Given the description of an element on the screen output the (x, y) to click on. 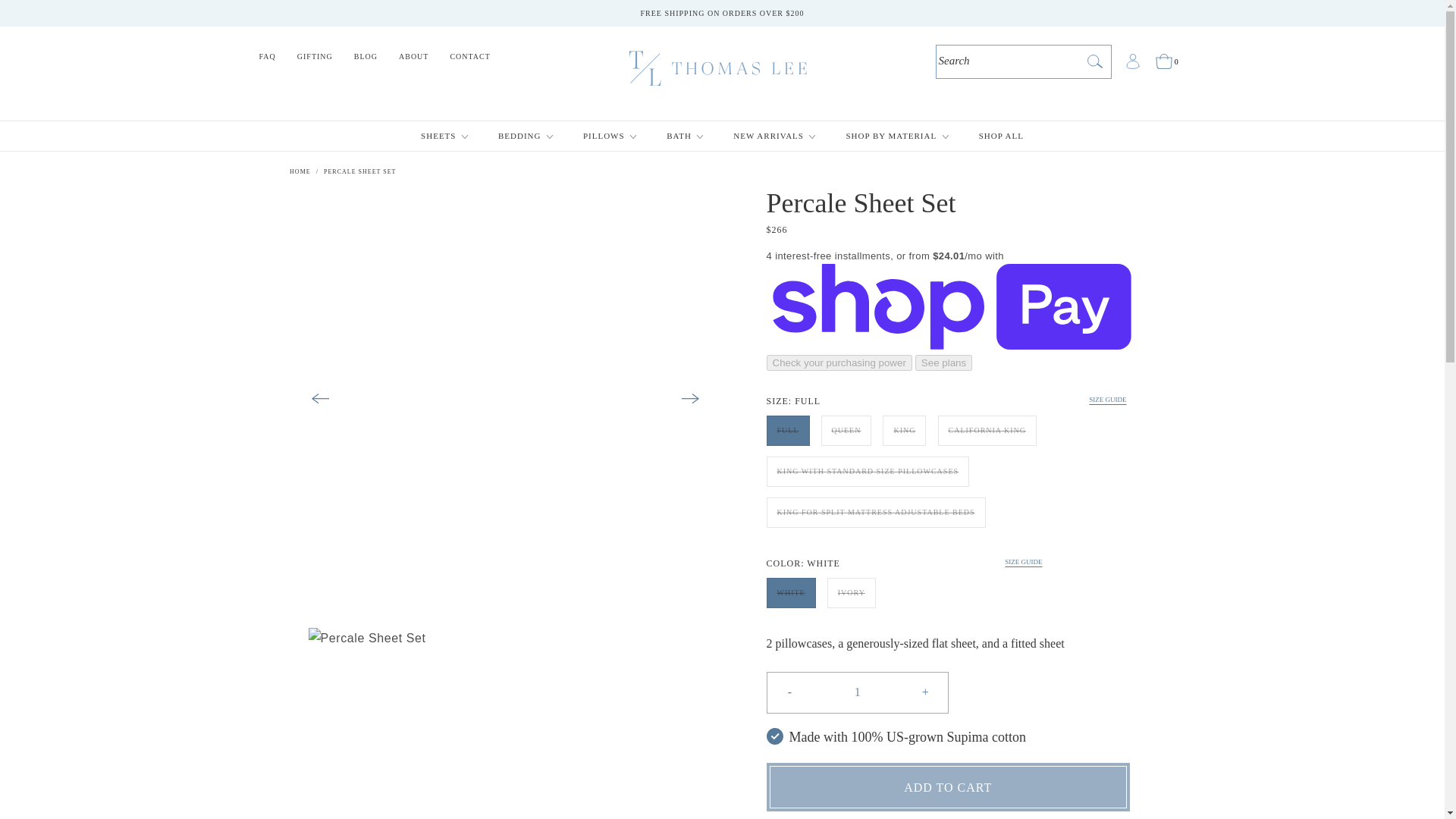
BLOG (365, 61)
Skip to content (45, 16)
Log in (1133, 61)
ABOUT (413, 61)
GIFTING (314, 61)
1 (857, 692)
FAQ (267, 61)
